Given the description of an element on the screen output the (x, y) to click on. 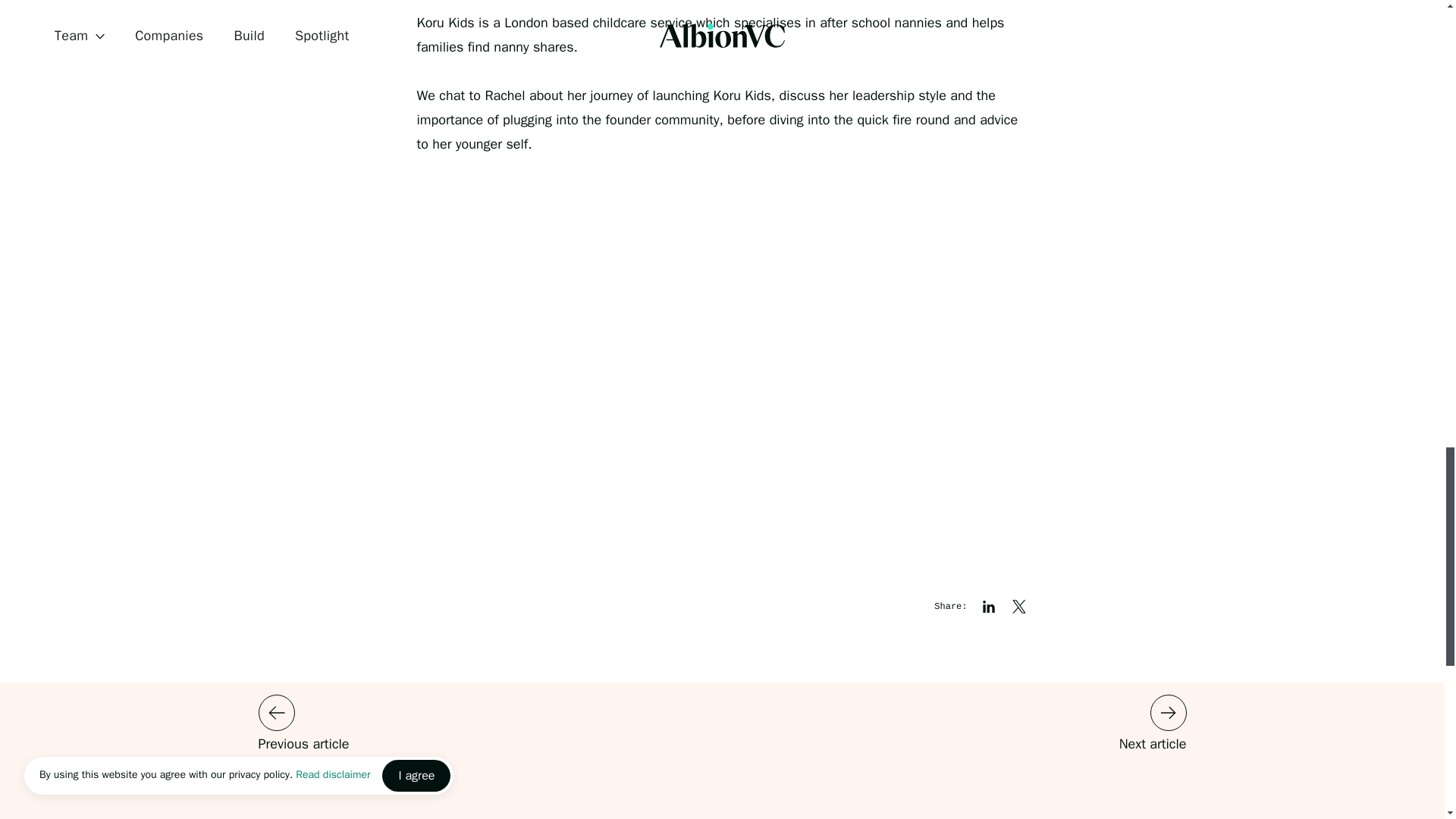
Share (988, 606)
Share (1018, 606)
